Given the description of an element on the screen output the (x, y) to click on. 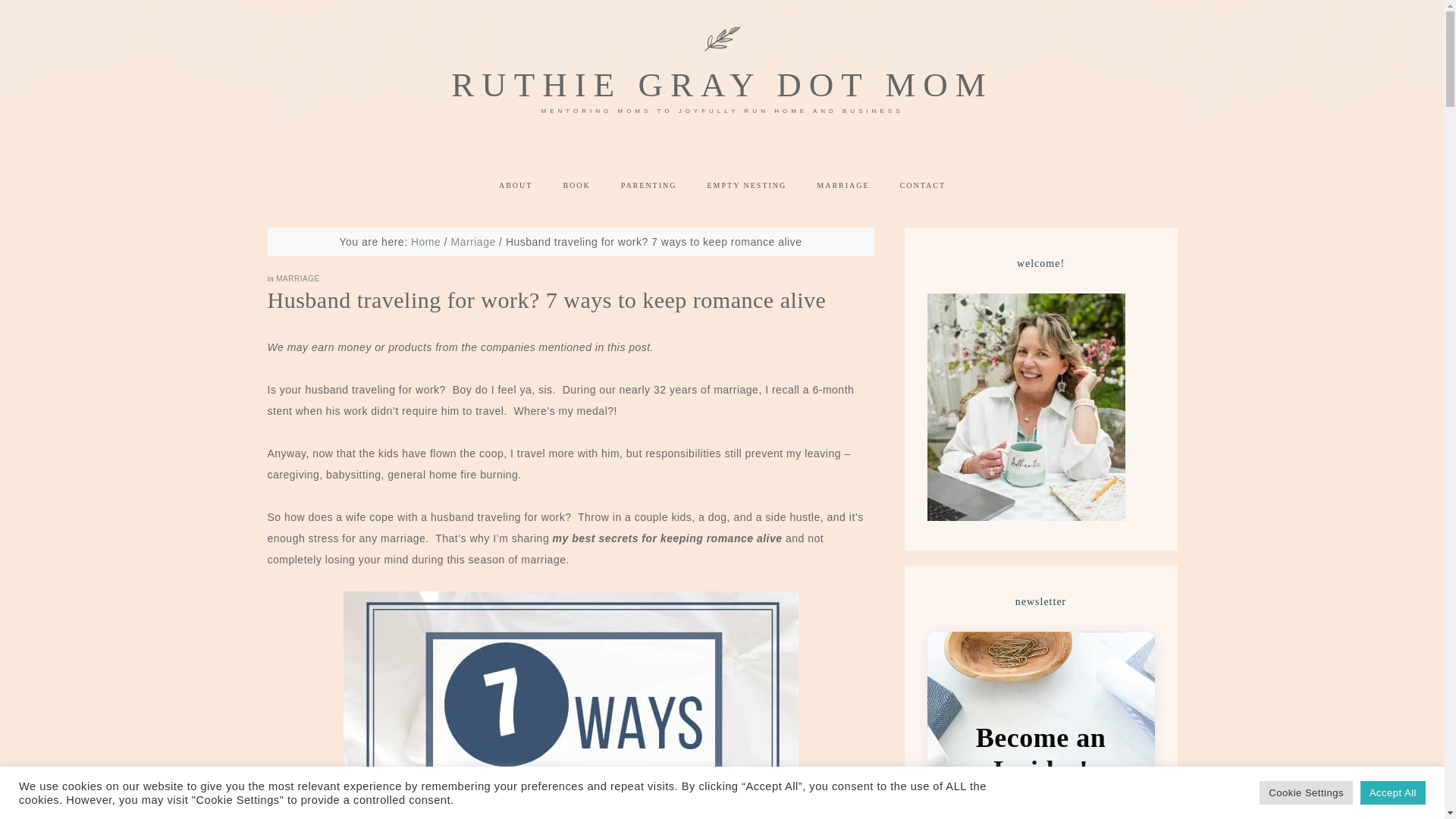
ABOUT (515, 185)
CONTACT (922, 185)
MARRIAGE (297, 278)
EMPTY NESTING (746, 185)
RUTHIE GRAY DOT MOM (721, 85)
BOOK (576, 185)
MARRIAGE (842, 185)
Home (425, 241)
PARENTING (649, 185)
Marriage (472, 241)
